Given the description of an element on the screen output the (x, y) to click on. 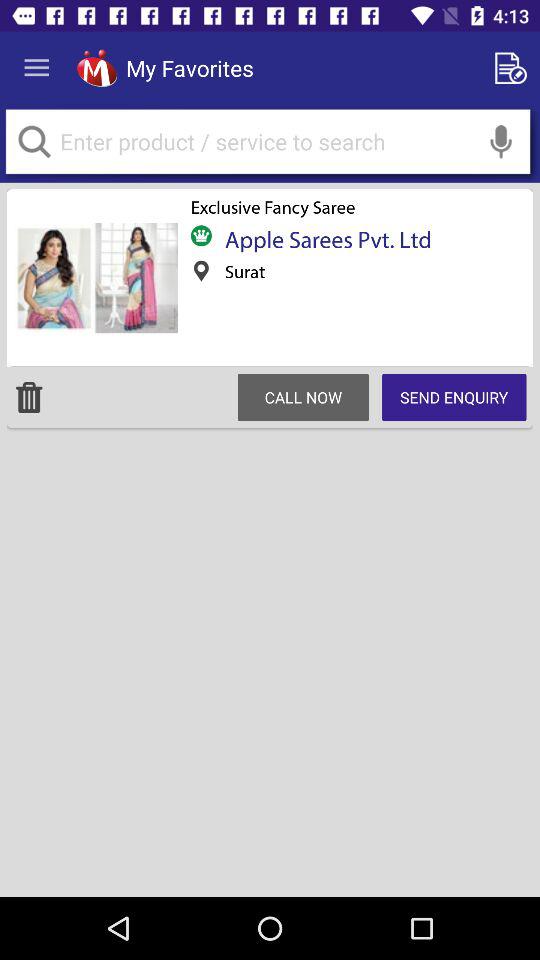
search button (267, 141)
